Given the description of an element on the screen output the (x, y) to click on. 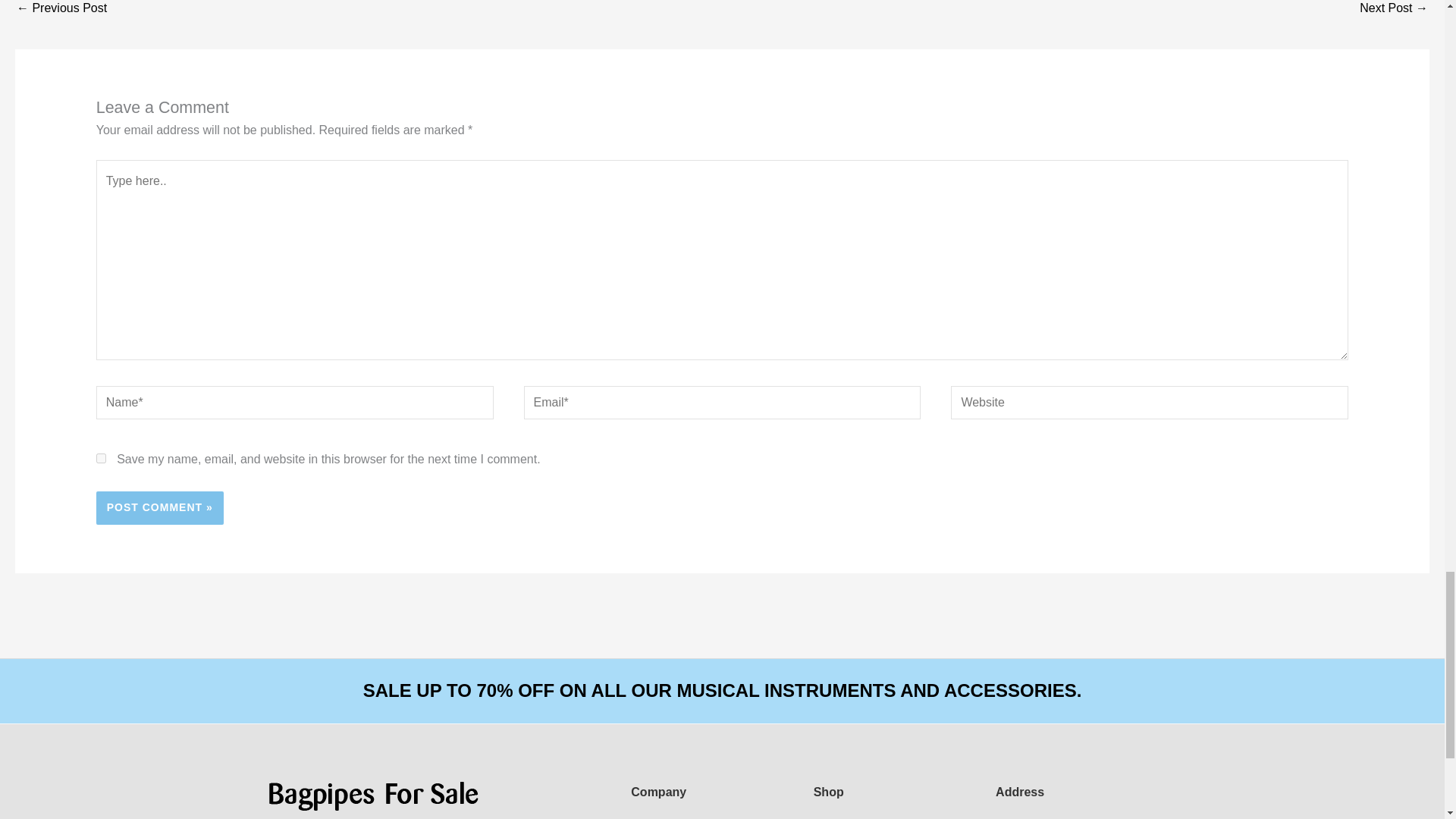
yes (101, 458)
What Cultures Use Irish Bagpipes? (61, 11)
Common issues with Irish Bagpipe and how to fix them? (1393, 11)
